Given the description of an element on the screen output the (x, y) to click on. 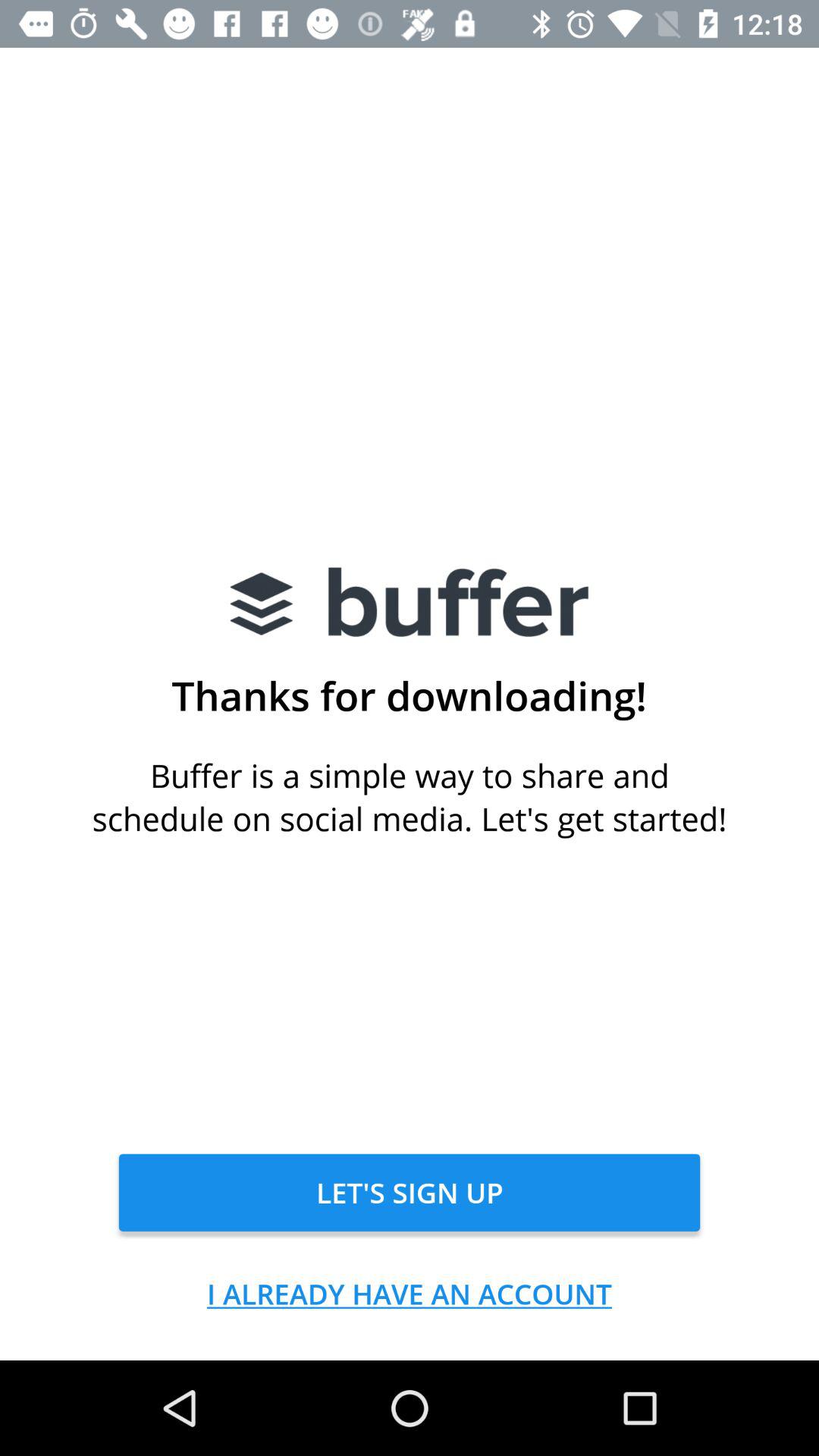
choose item below let s sign item (409, 1293)
